Given the description of an element on the screen output the (x, y) to click on. 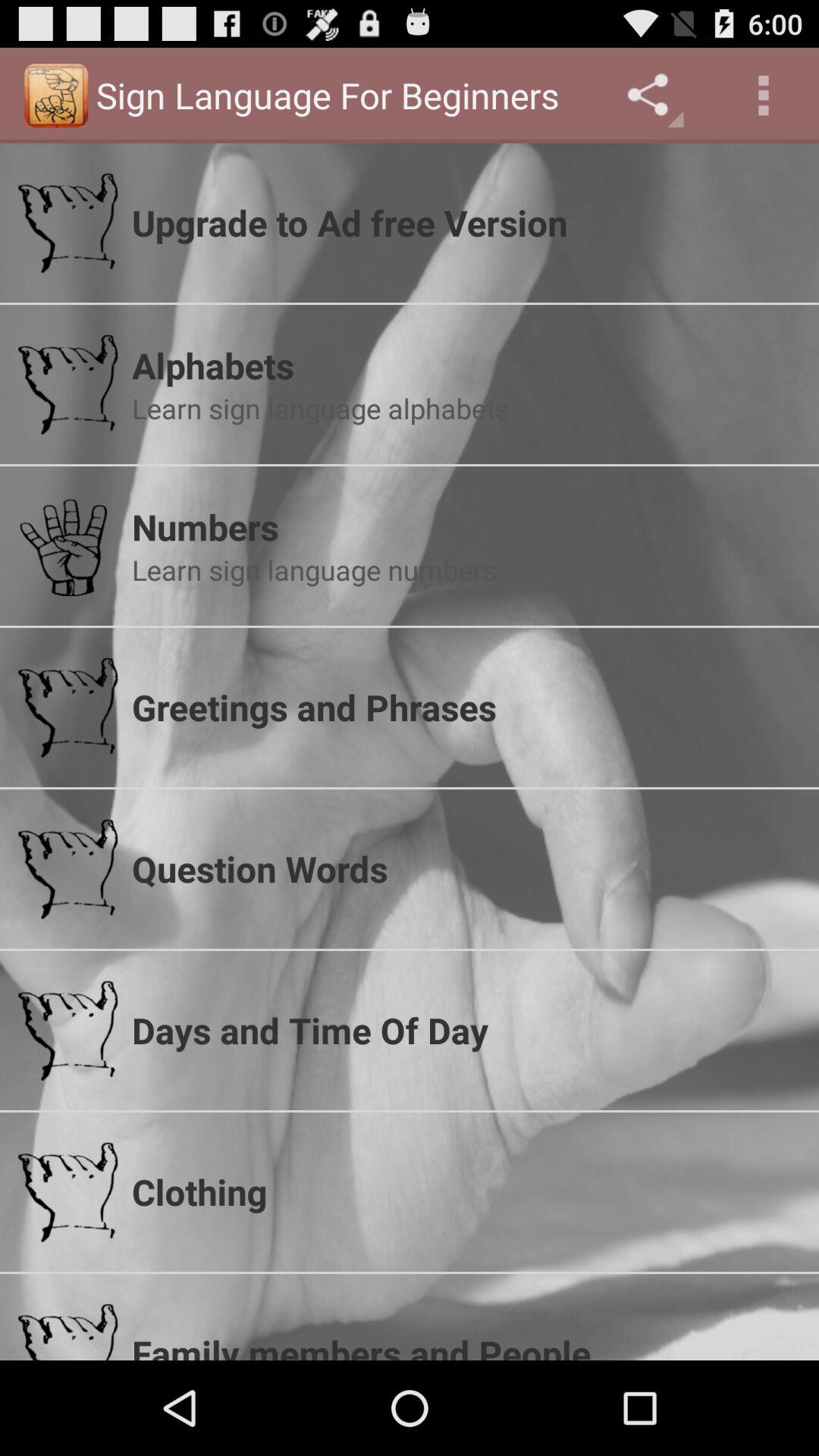
launch app above the question words (465, 707)
